Given the description of an element on the screen output the (x, y) to click on. 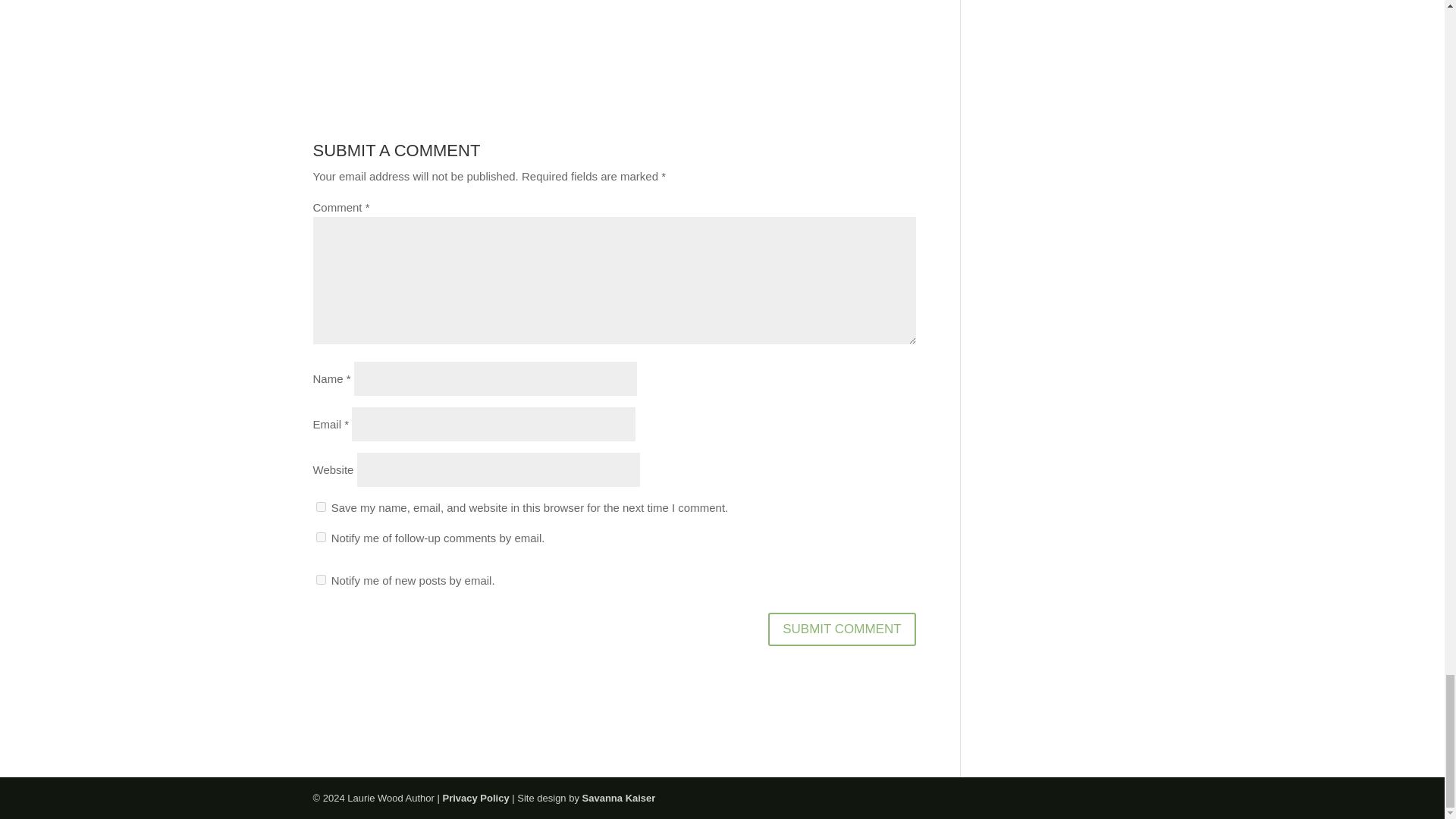
yes (319, 506)
Submit Comment (841, 628)
Submit Comment (841, 628)
subscribe (319, 579)
subscribe (319, 537)
